Given the description of an element on the screen output the (x, y) to click on. 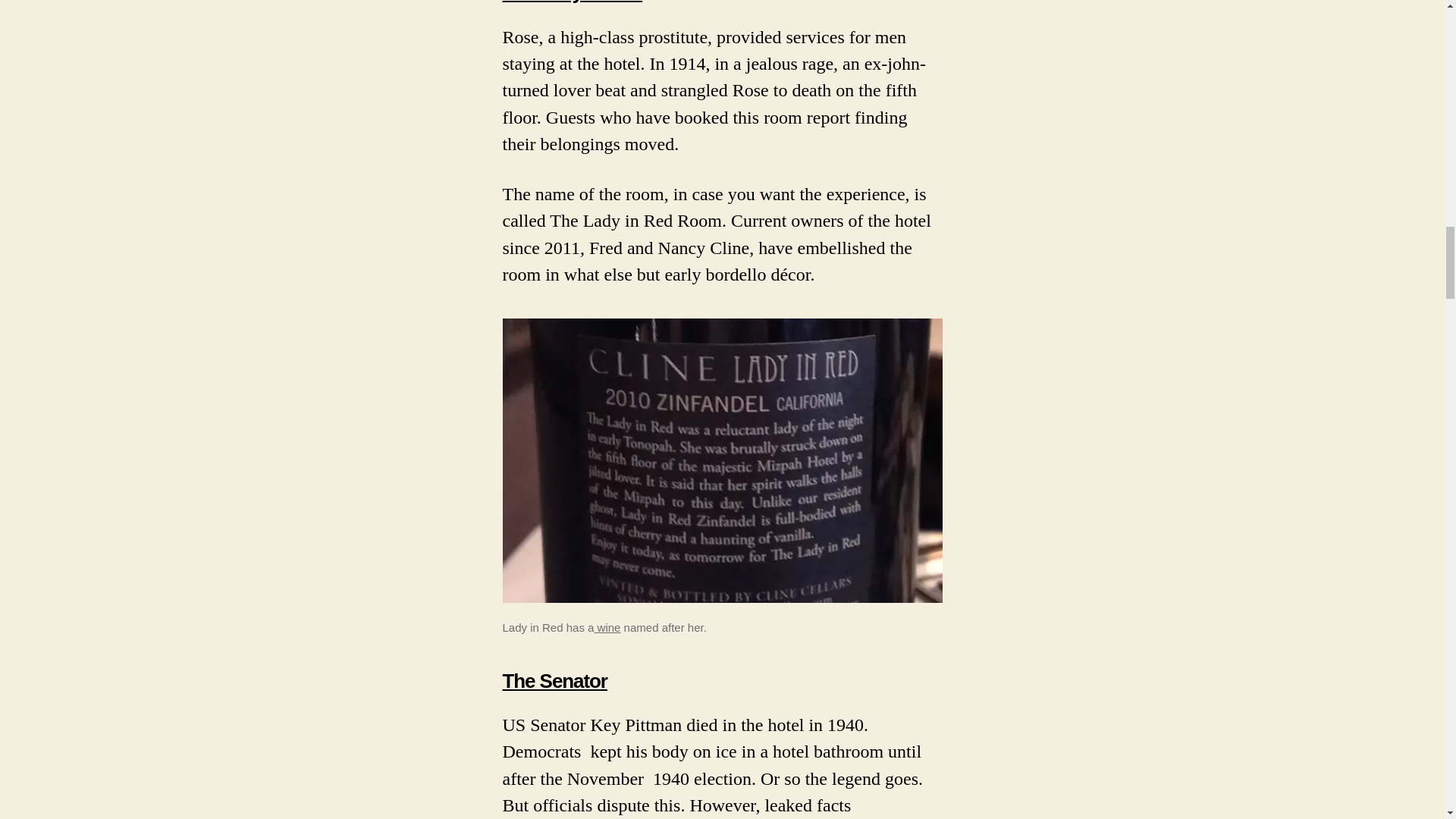
wine (607, 626)
